Given the description of an element on the screen output the (x, y) to click on. 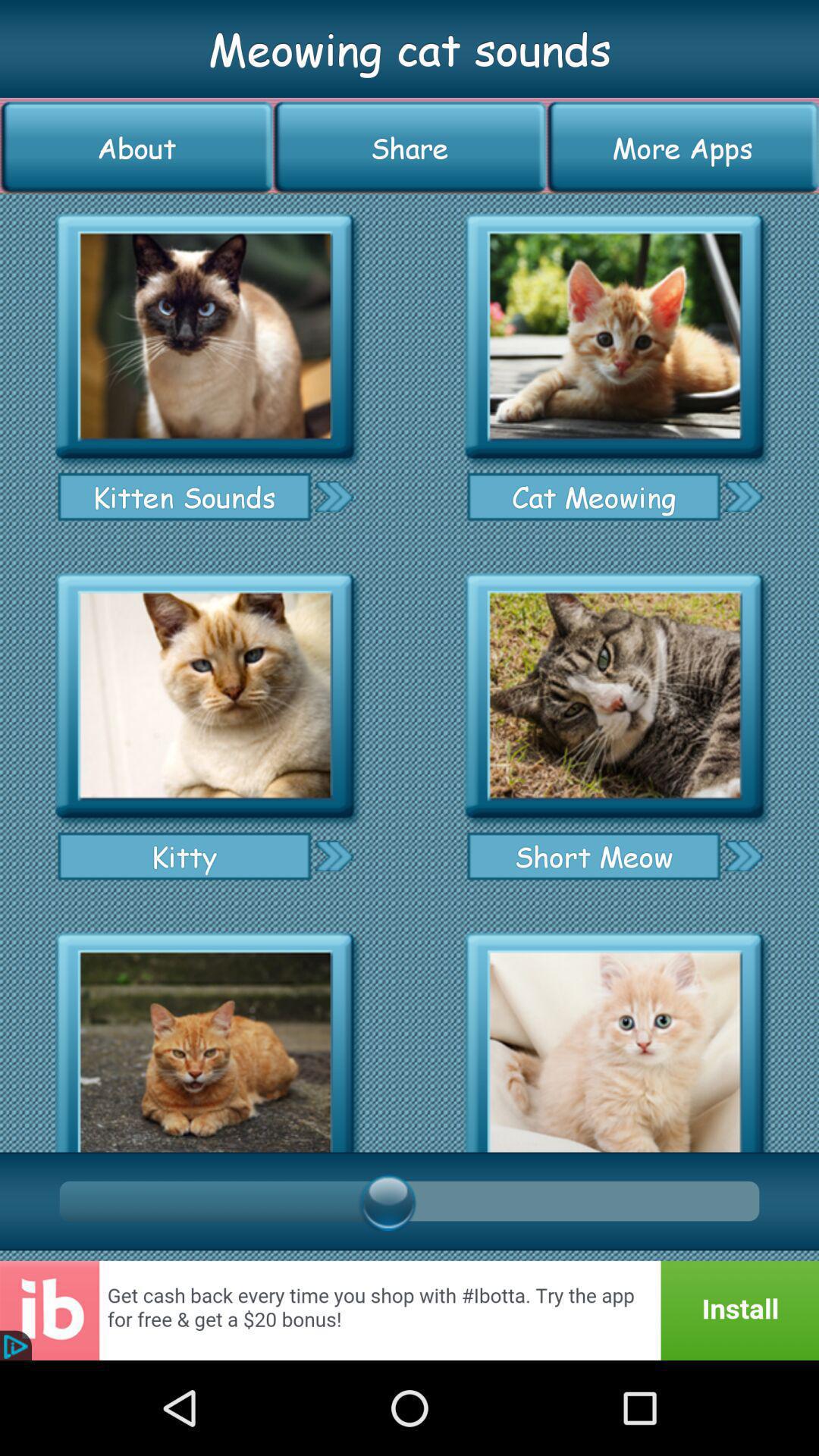
play cat sound (204, 696)
